Given the description of an element on the screen output the (x, y) to click on. 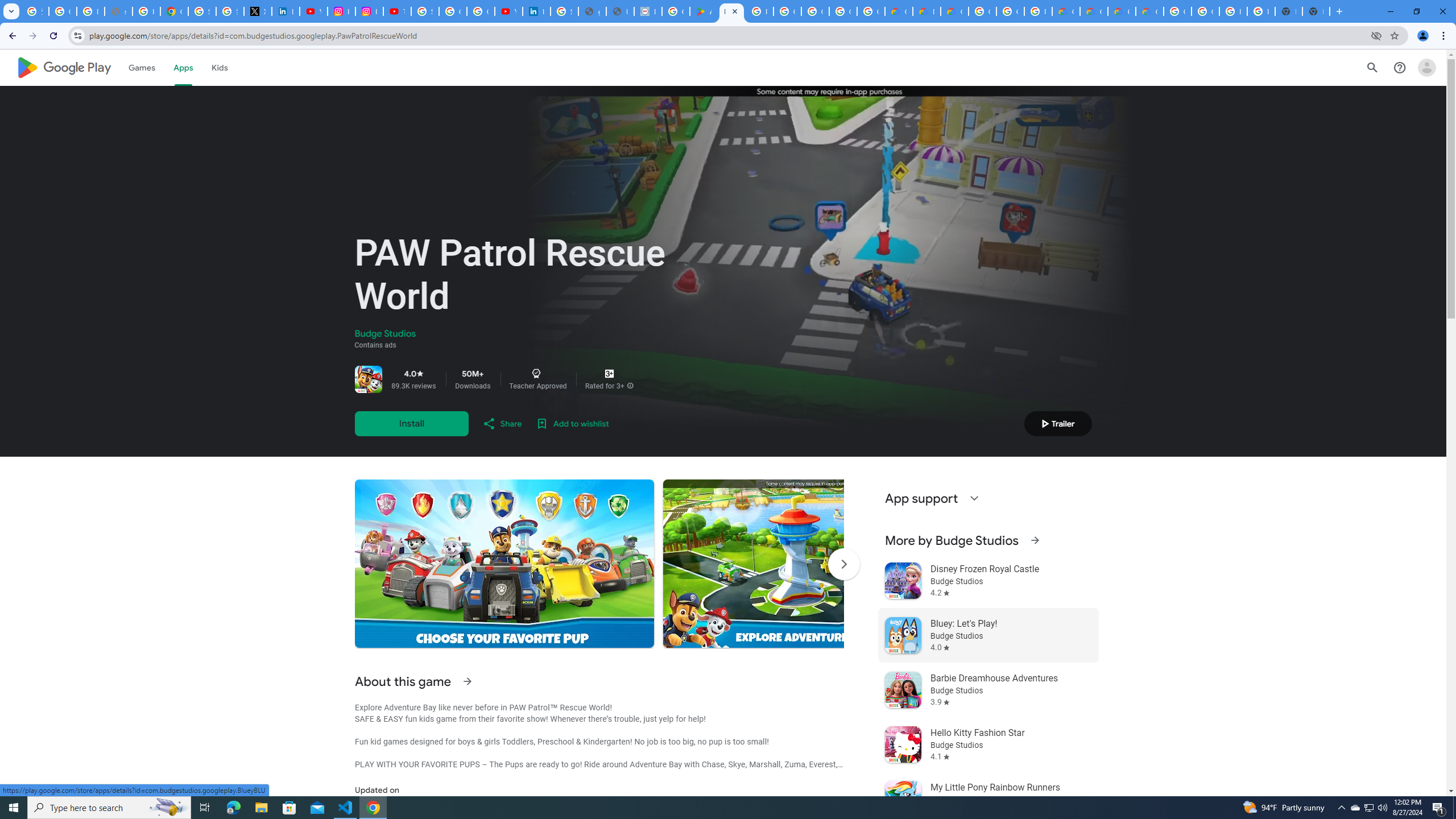
More info about this content rating (630, 385)
Customer Care | Google Cloud (898, 11)
YouTube Content Monetization Policies - How YouTube Works (313, 11)
Google Cloud Platform (982, 11)
Google Workspace - Specific Terms (870, 11)
Content rating (609, 373)
Expand (973, 497)
PAW Patrol Rescue World - Apps on Google Play (731, 11)
Google Cloud Service Health (1150, 11)
Kids (219, 67)
